Given the description of an element on the screen output the (x, y) to click on. 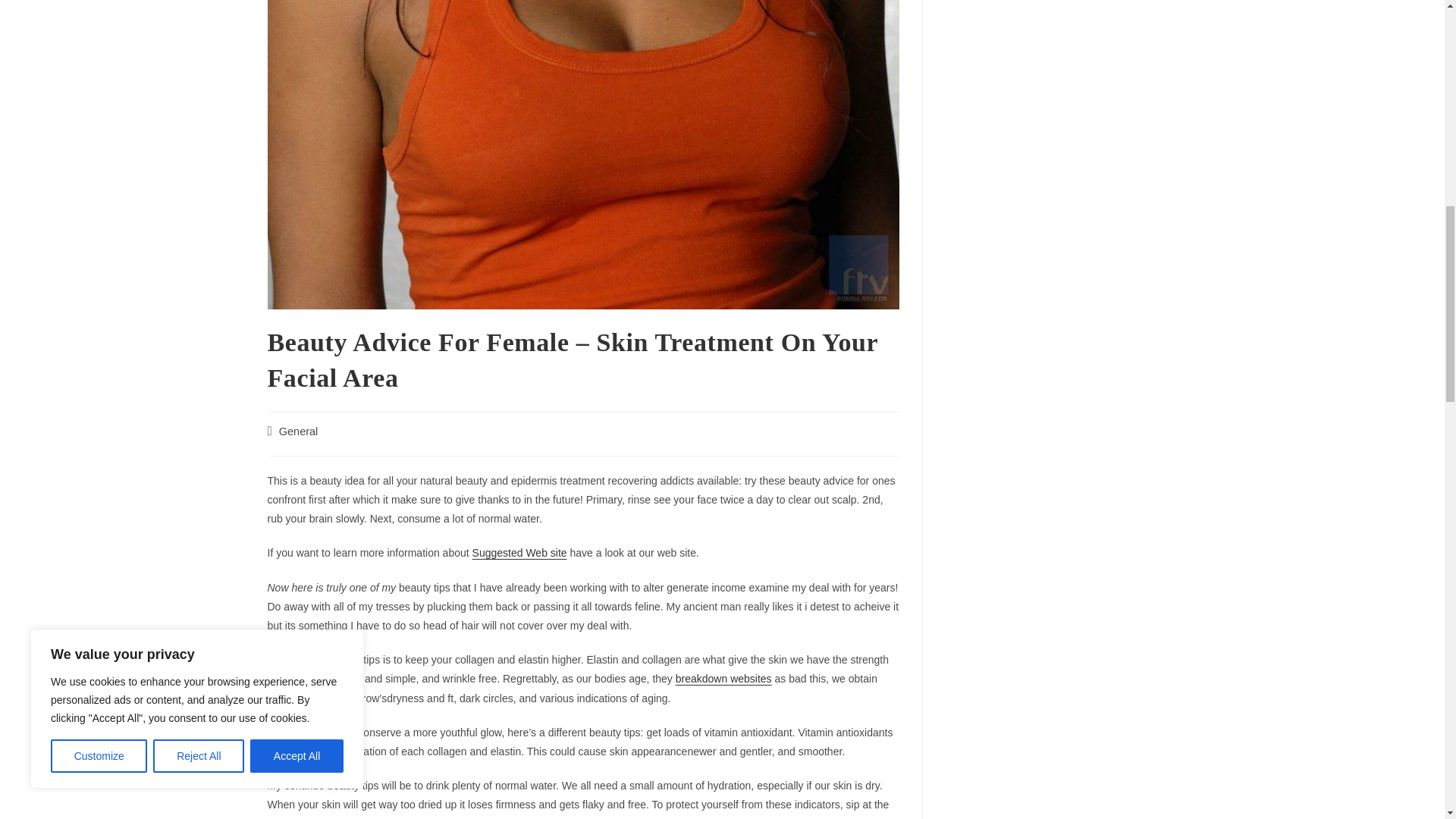
breakdown websites (723, 678)
Suggested Web site (519, 552)
General (298, 431)
